Given the description of an element on the screen output the (x, y) to click on. 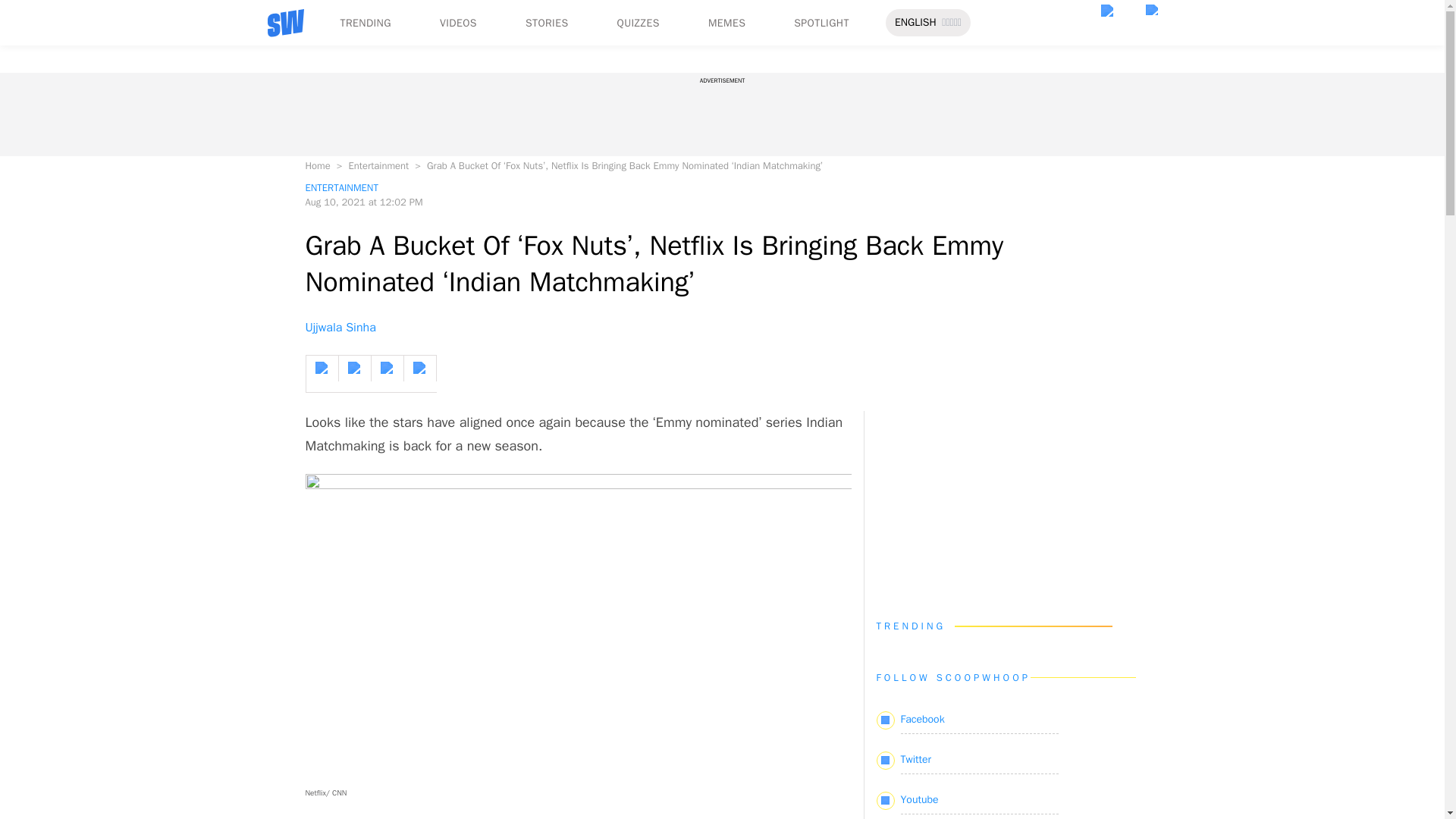
QUIZZES (638, 22)
MEMES (726, 22)
STORIES (547, 22)
ENGLISH (915, 22)
VIDEOS (458, 22)
SPOTLIGHT (820, 22)
TRENDING (364, 22)
